Given the description of an element on the screen output the (x, y) to click on. 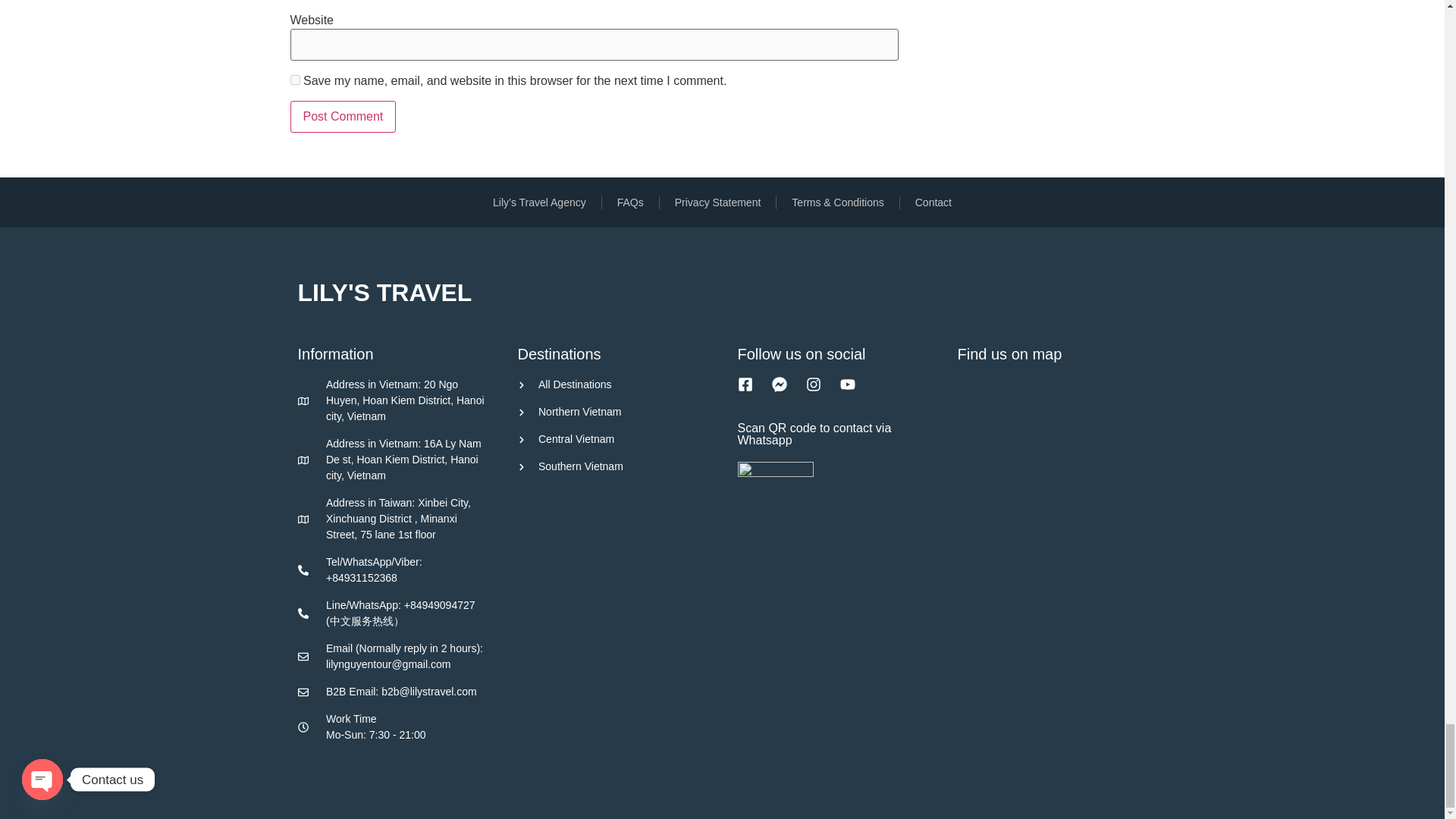
yes (294, 80)
Post Comment (342, 116)
